Given the description of an element on the screen output the (x, y) to click on. 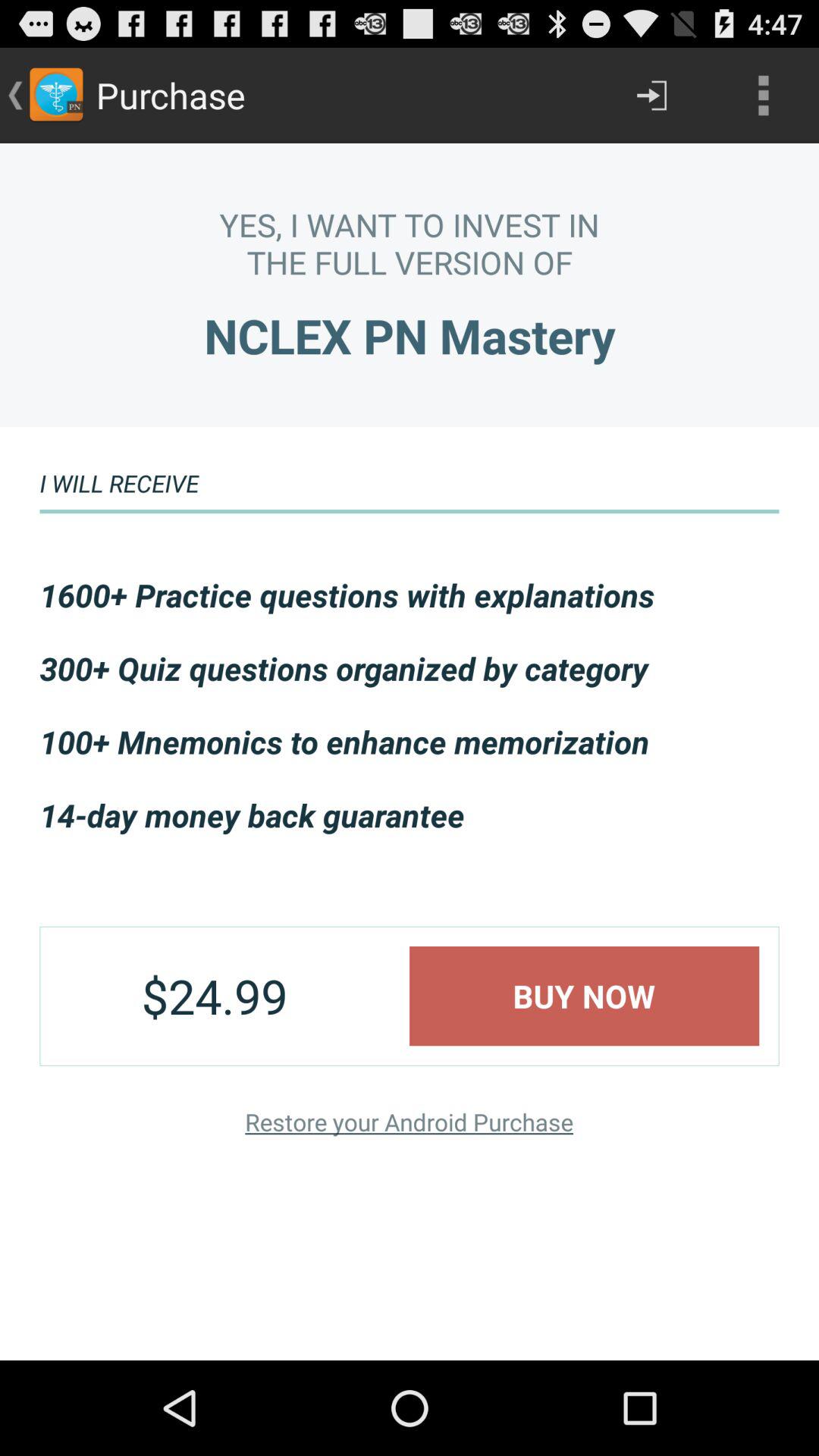
click the buy now (584, 995)
